Given the description of an element on the screen output the (x, y) to click on. 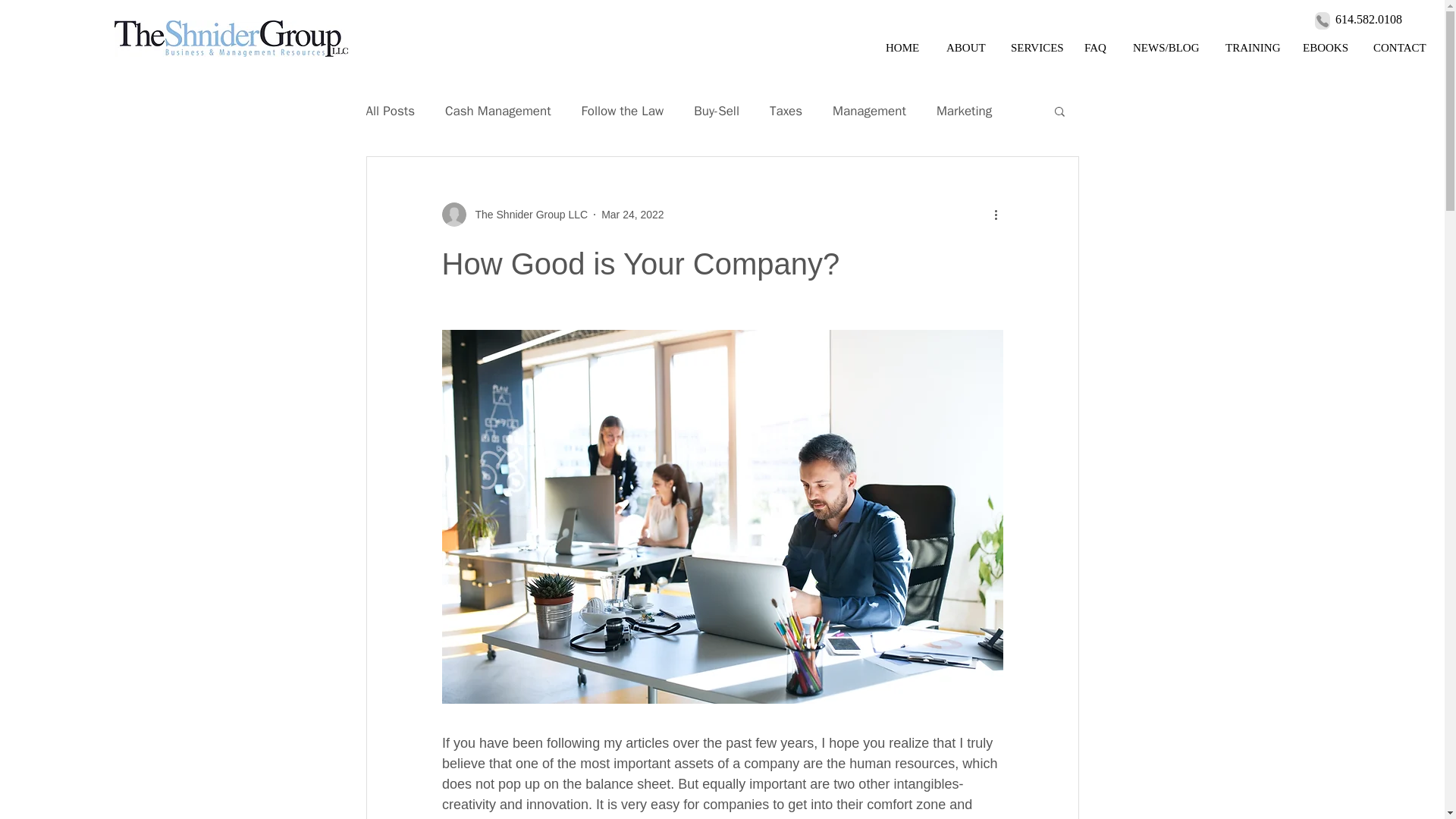
Follow the Law (621, 109)
SERVICES (1035, 47)
All Posts (389, 109)
HOME (904, 47)
CONTACT (1399, 47)
Marketing (963, 109)
614.582.0108 (1368, 19)
Cash Management (498, 109)
Management (868, 109)
Mar 24, 2022 (632, 214)
FAQ (1097, 47)
Buy-Sell (716, 109)
ABOUT (966, 47)
The Shnider Group LLC (526, 213)
The Shnider Group LLC (514, 214)
